Given the description of an element on the screen output the (x, y) to click on. 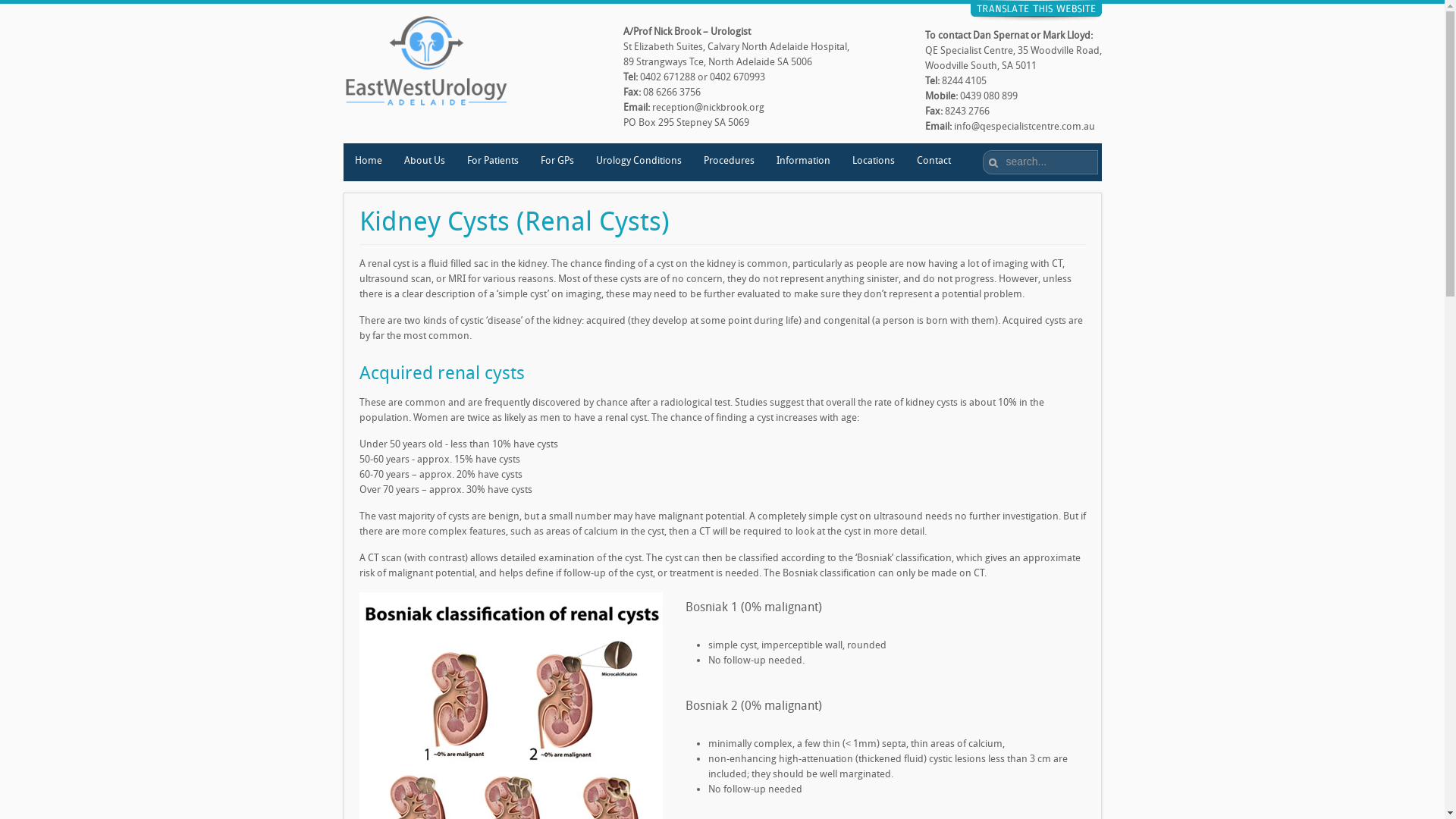
8244 4105 Element type: text (963, 80)
8243 2766 Element type: text (966, 110)
Locations Element type: text (872, 162)
Reset Element type: text (8, 9)
0439 080 899 Element type: text (988, 95)
Contact Element type: text (933, 162)
0402 671288 Element type: text (667, 76)
For Patients Element type: text (491, 162)
For GPs Element type: text (556, 162)
info@qespecialistcentre.com.au Element type: text (1024, 125)
0402 670993 Element type: text (737, 76)
reception@nickbrook.org Element type: text (708, 106)
Home Element type: text (367, 162)
08 6266 3756 Element type: text (671, 91)
